Given the description of an element on the screen output the (x, y) to click on. 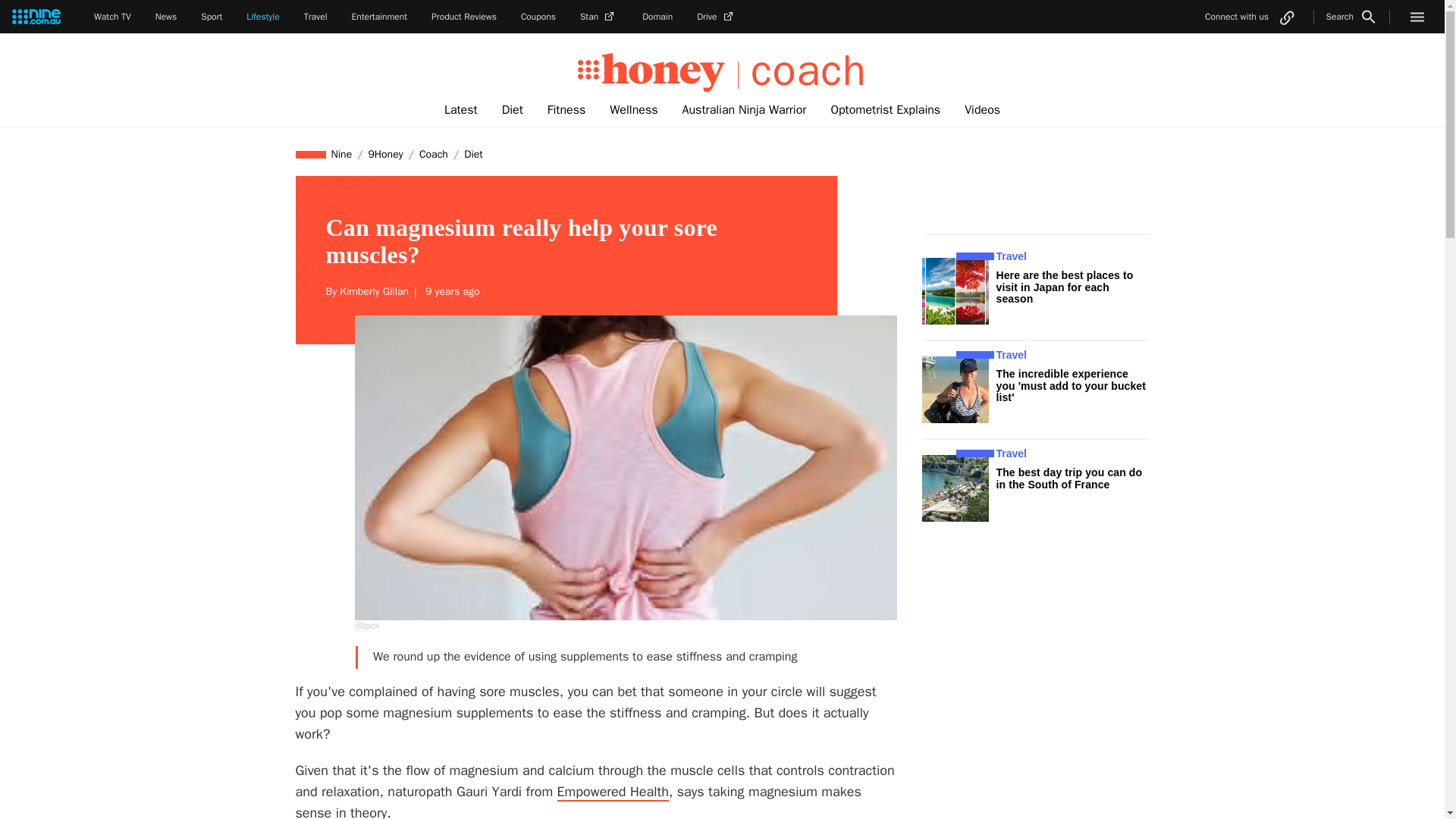
Coach (432, 154)
Stan (598, 16)
Diet (472, 154)
Nine (342, 154)
Lifestyle (262, 16)
Australian Ninja Warrior (743, 109)
Coupons (538, 16)
Diet (512, 109)
2015-07-24 03:03 (450, 291)
Optometrist Explains (885, 109)
